Given the description of an element on the screen output the (x, y) to click on. 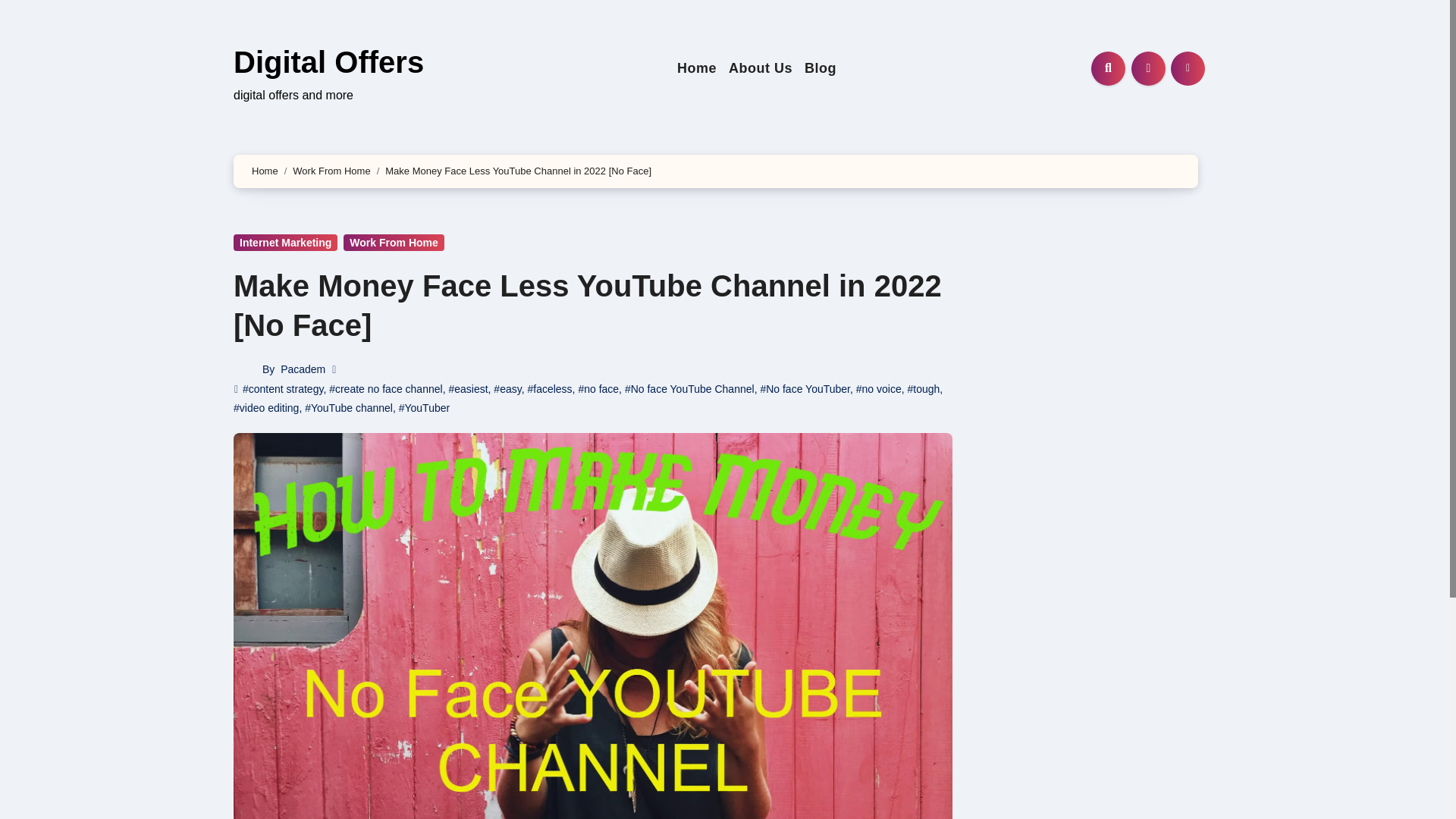
Blog (820, 67)
About Us (759, 67)
Internet Marketing (284, 242)
Home (696, 67)
Home (696, 67)
Digital Offers (327, 61)
Work From Home (330, 170)
About Us (759, 67)
Blog (820, 67)
Pacadem (302, 369)
